Given the description of an element on the screen output the (x, y) to click on. 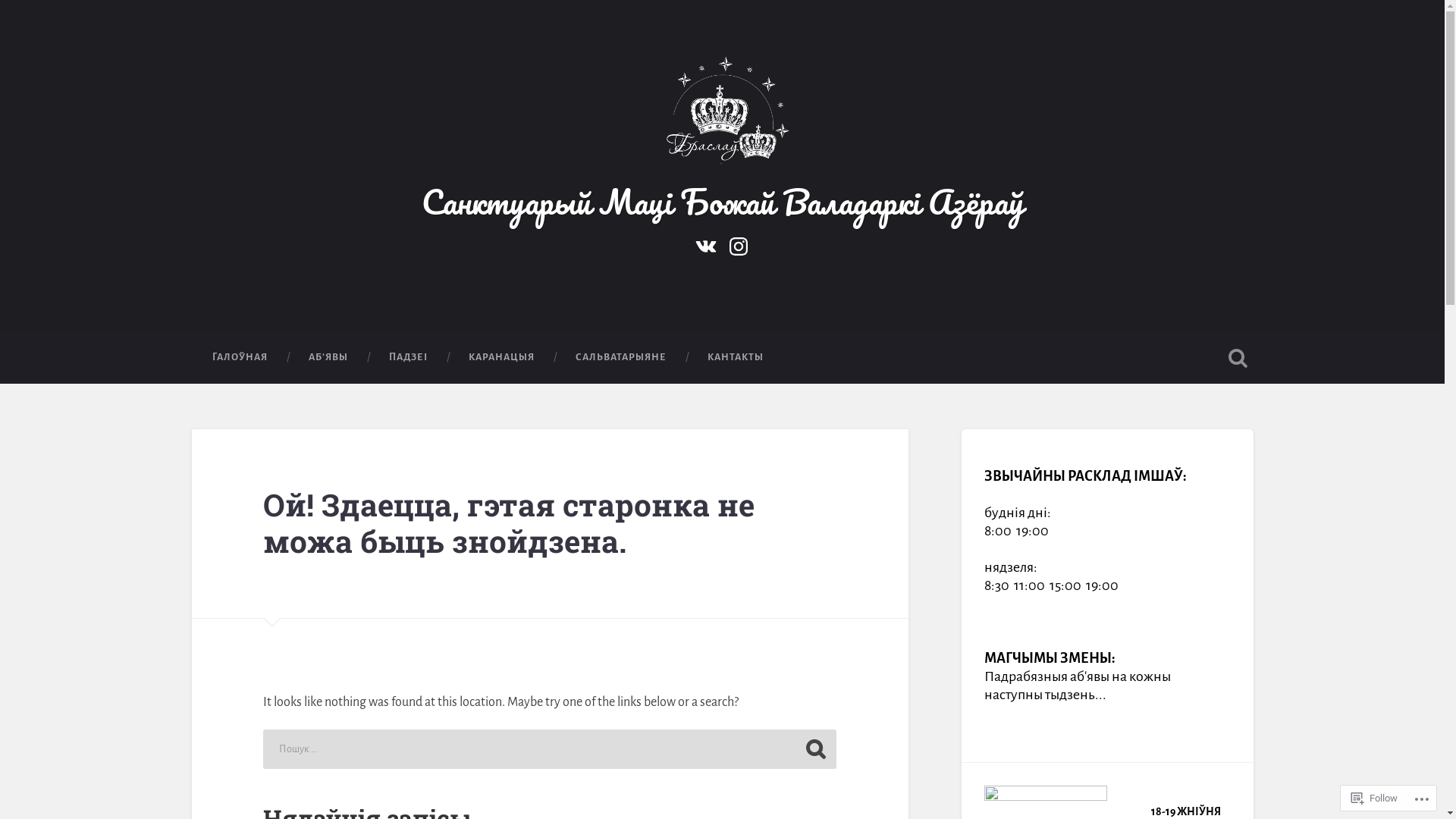
Open Search Element type: text (1237, 357)
Follow Element type: text (1374, 797)
